Given the description of an element on the screen output the (x, y) to click on. 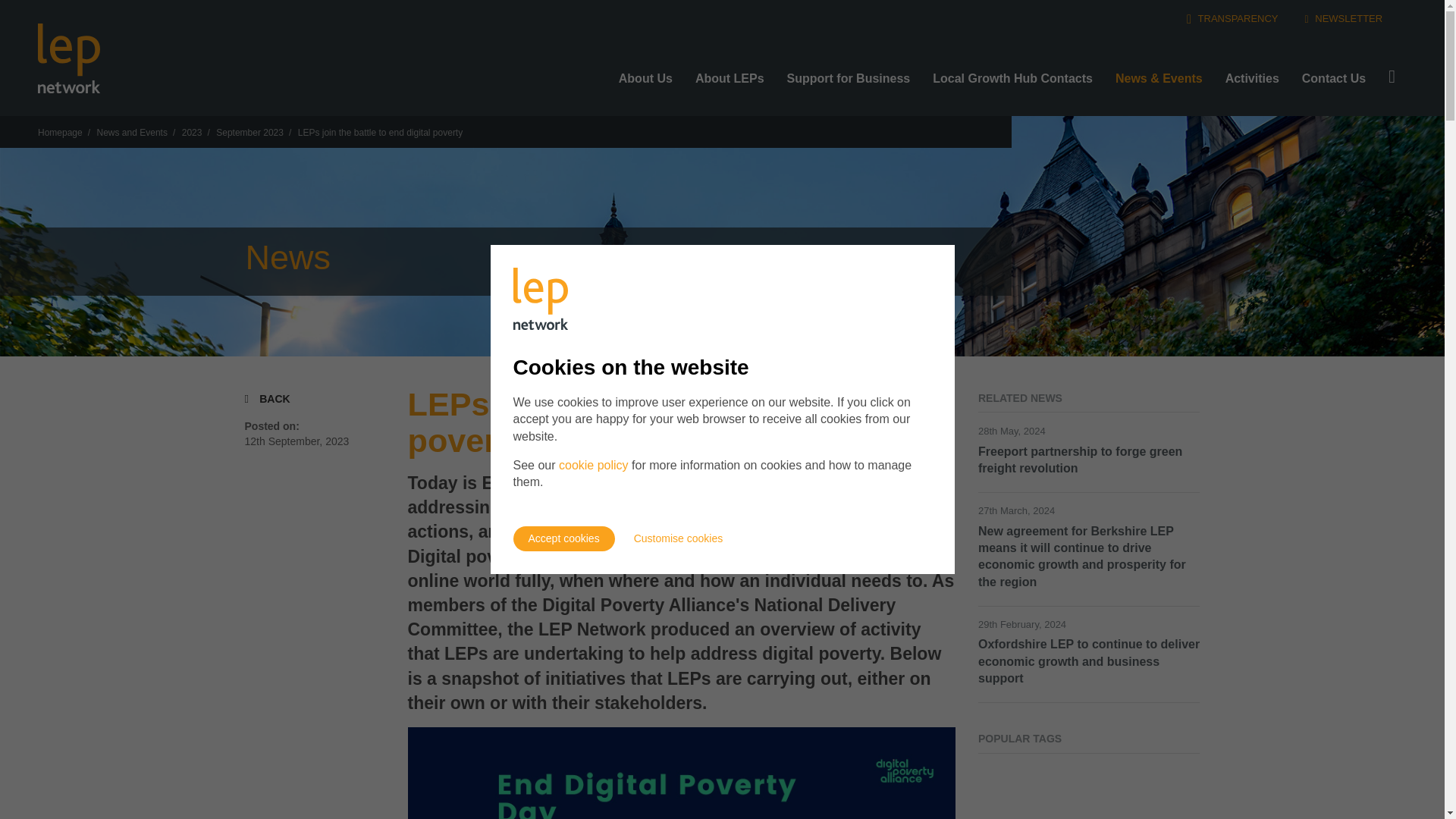
Homepage (59, 132)
Activities (1252, 72)
Local Growth Hub Contacts (1012, 72)
About Us (645, 78)
NEWSLETTER (1343, 18)
2023 (192, 132)
Cookie Policy (593, 464)
News and Events (132, 132)
BACK (266, 398)
TRANSPARENCY (1232, 18)
About LEPs (729, 78)
September 2023 (249, 132)
Contact Us (1333, 72)
Support for Business (848, 72)
